Given the description of an element on the screen output the (x, y) to click on. 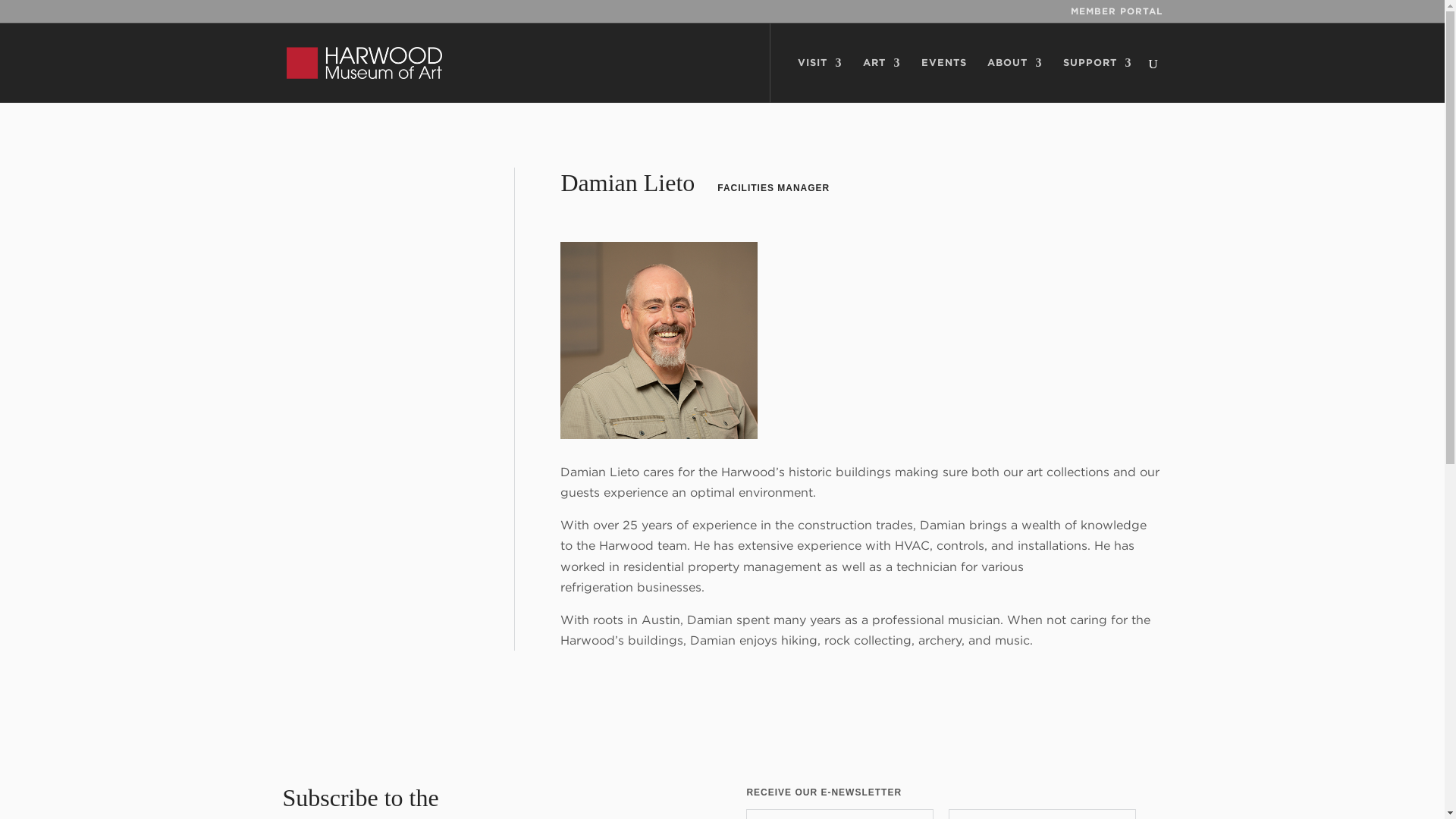
ABOUT (1014, 79)
VISIT (820, 79)
MEMBER PORTAL (1115, 14)
EVENTS (943, 79)
SUPPORT (1097, 79)
